Given the description of an element on the screen output the (x, y) to click on. 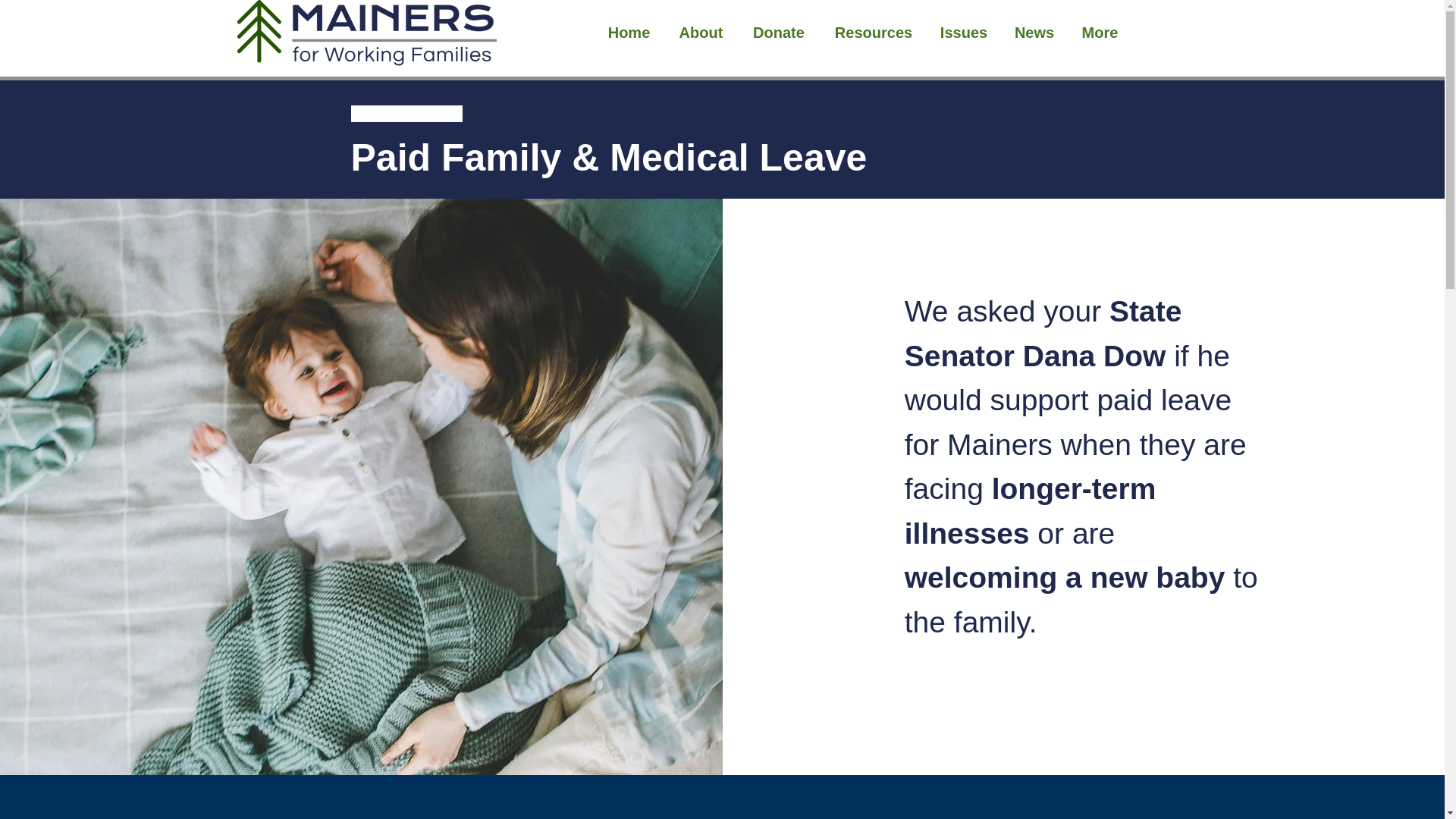
Donate (777, 32)
Home (627, 32)
About (699, 32)
Resources (874, 32)
Issues (963, 32)
News (1034, 32)
